Given the description of an element on the screen output the (x, y) to click on. 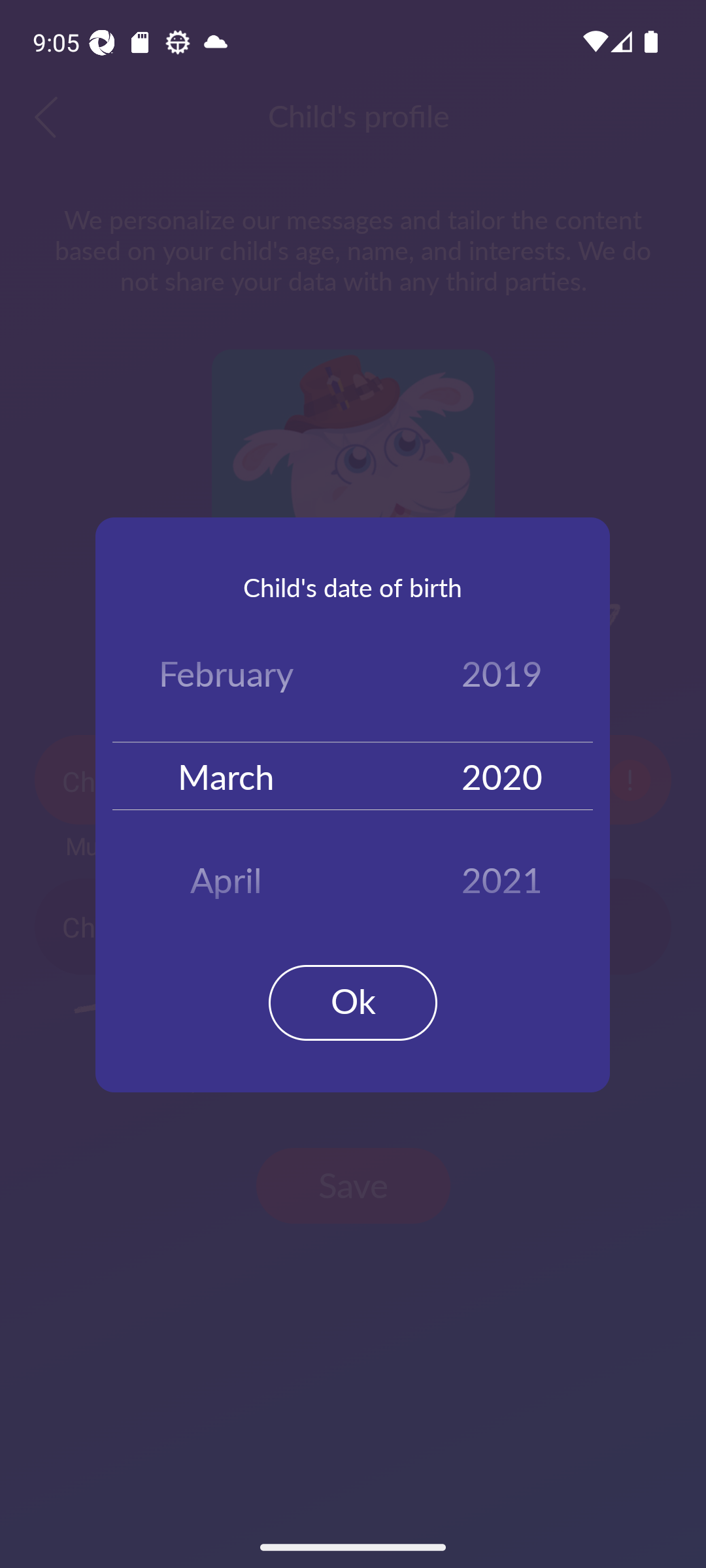
February (226, 676)
2019 (501, 676)
March (226, 774)
2020 (501, 774)
April (226, 872)
2021 (501, 872)
Ok (352, 1002)
